Given the description of an element on the screen output the (x, y) to click on. 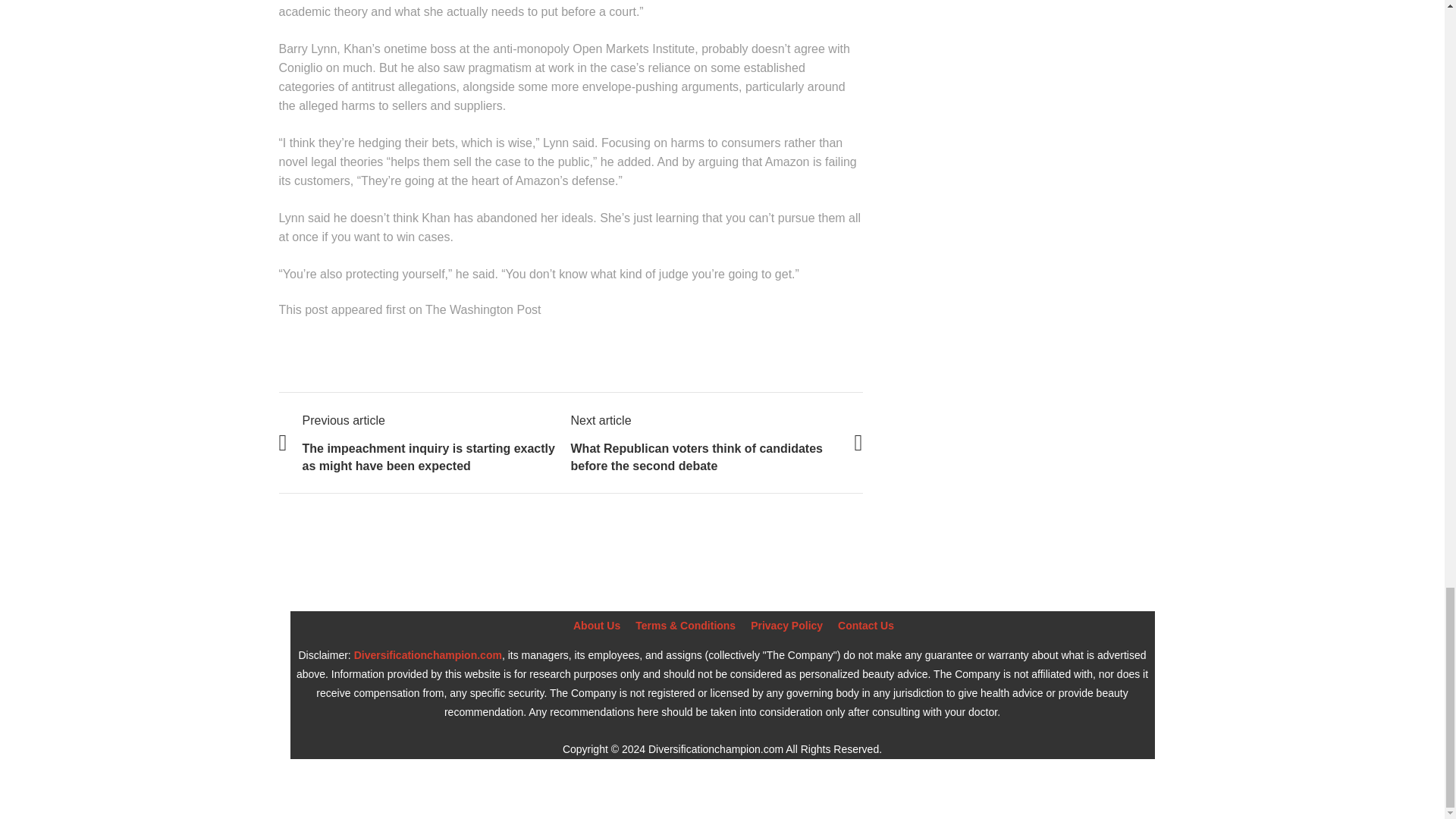
Diversificationchampion.com (427, 654)
Contact Us (865, 625)
About Us (596, 625)
Privacy Policy (786, 625)
